Given the description of an element on the screen output the (x, y) to click on. 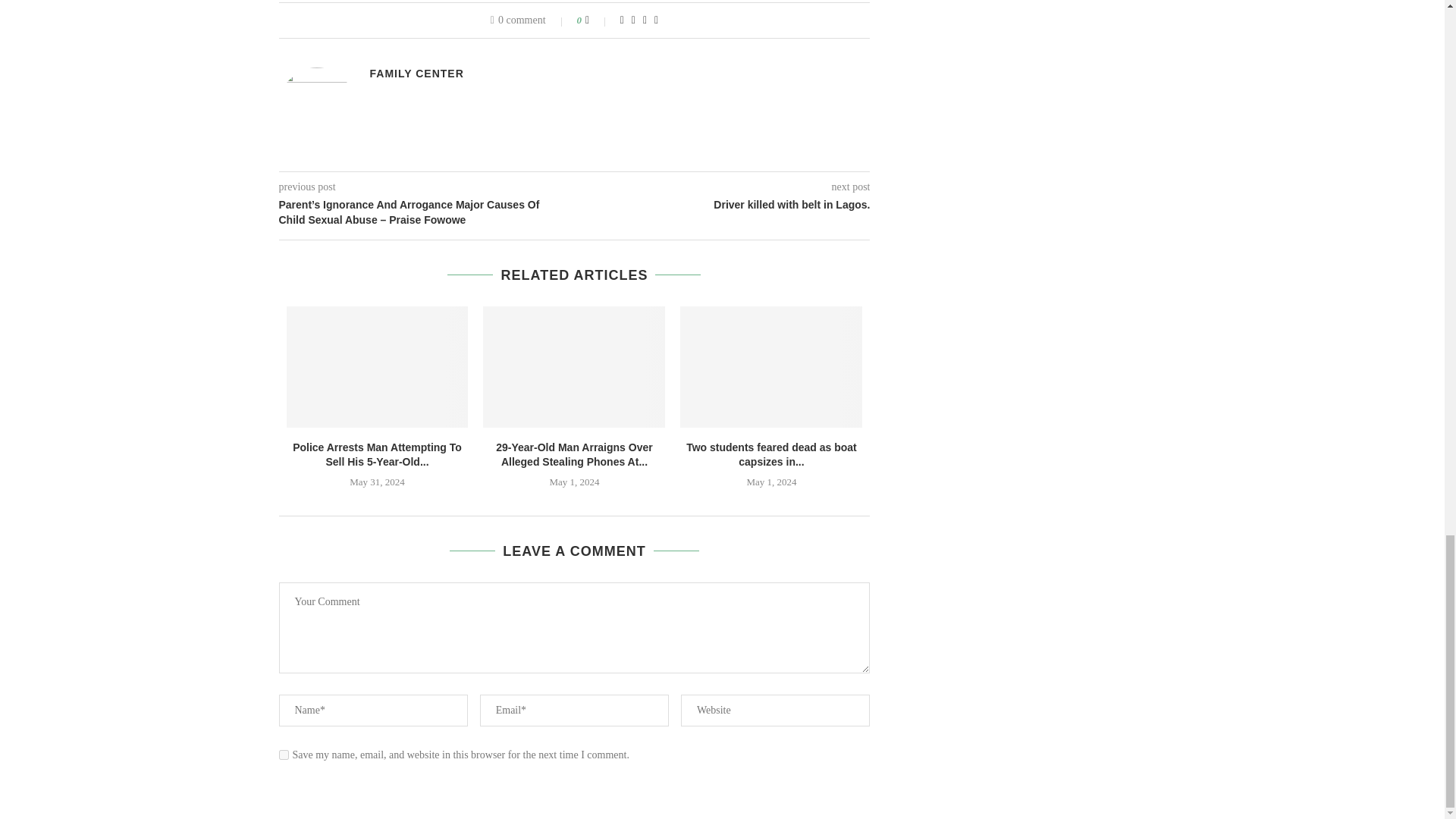
Two students feared dead as boat capsizes in Kano (770, 366)
Author Family Center (416, 73)
Like (597, 20)
yes (283, 755)
